Given the description of an element on the screen output the (x, y) to click on. 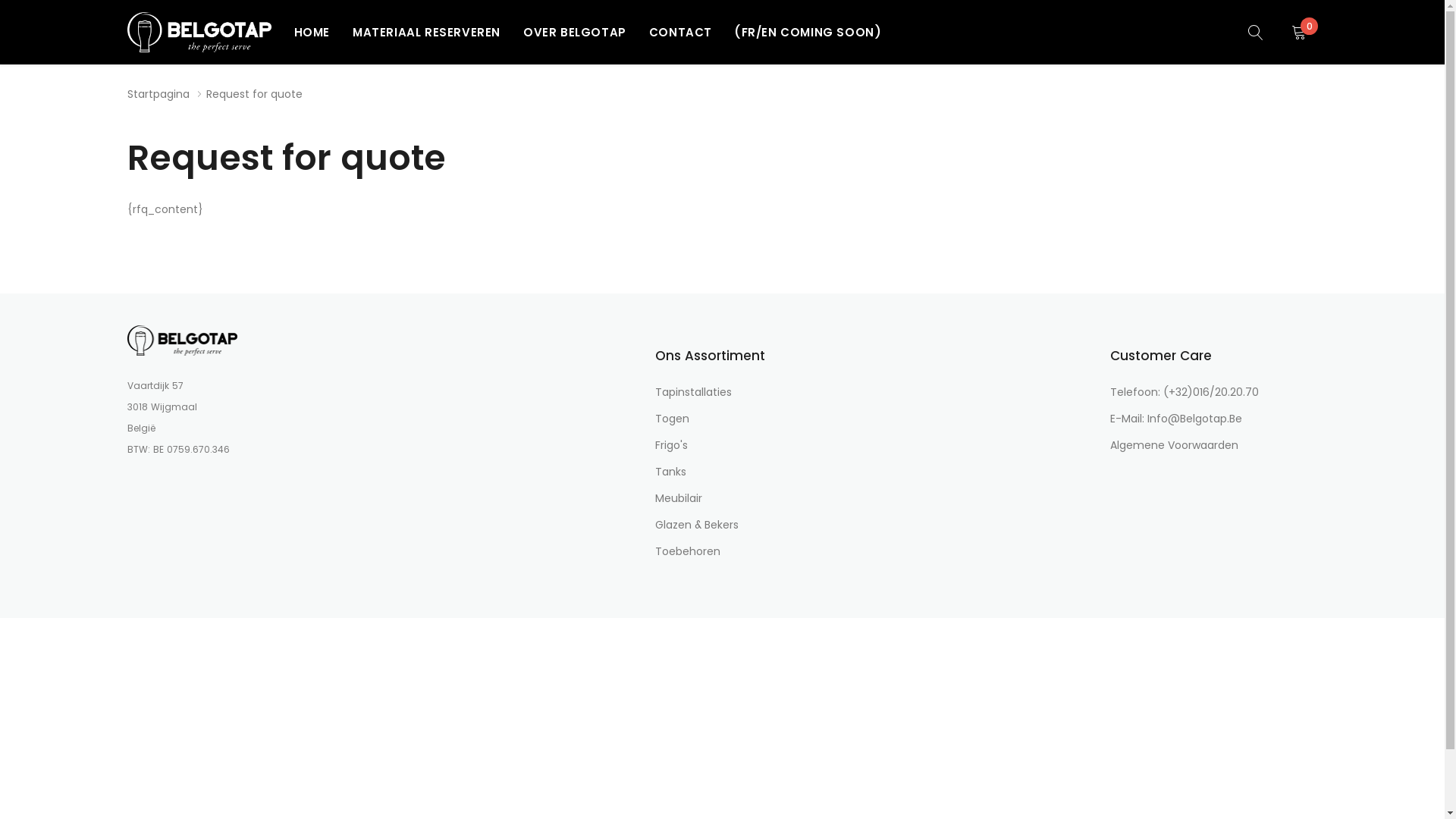
Tapinstallaties Element type: text (693, 391)
Toebehoren Element type: text (687, 550)
HOME Element type: text (311, 32)
Startpagina Element type: text (158, 93)
E-Mail: Info@Belgotap.Be Element type: text (1176, 418)
0 Element type: text (1303, 31)
(FR/EN COMING SOON) Element type: text (807, 32)
Frigo'S Element type: text (671, 444)
Togen Element type: text (672, 418)
Meubilair Element type: text (678, 497)
OVER BELGOTAP Element type: text (574, 32)
MATERIAAL RESERVEREN Element type: text (426, 32)
CONTACT Element type: text (680, 32)
Telefoon: (+32)016/20.20.70 Element type: text (1184, 391)
Algemene Voorwaarden Element type: text (1174, 444)
Tanks Element type: text (670, 471)
Glazen & Bekers Element type: text (696, 524)
